Given the description of an element on the screen output the (x, y) to click on. 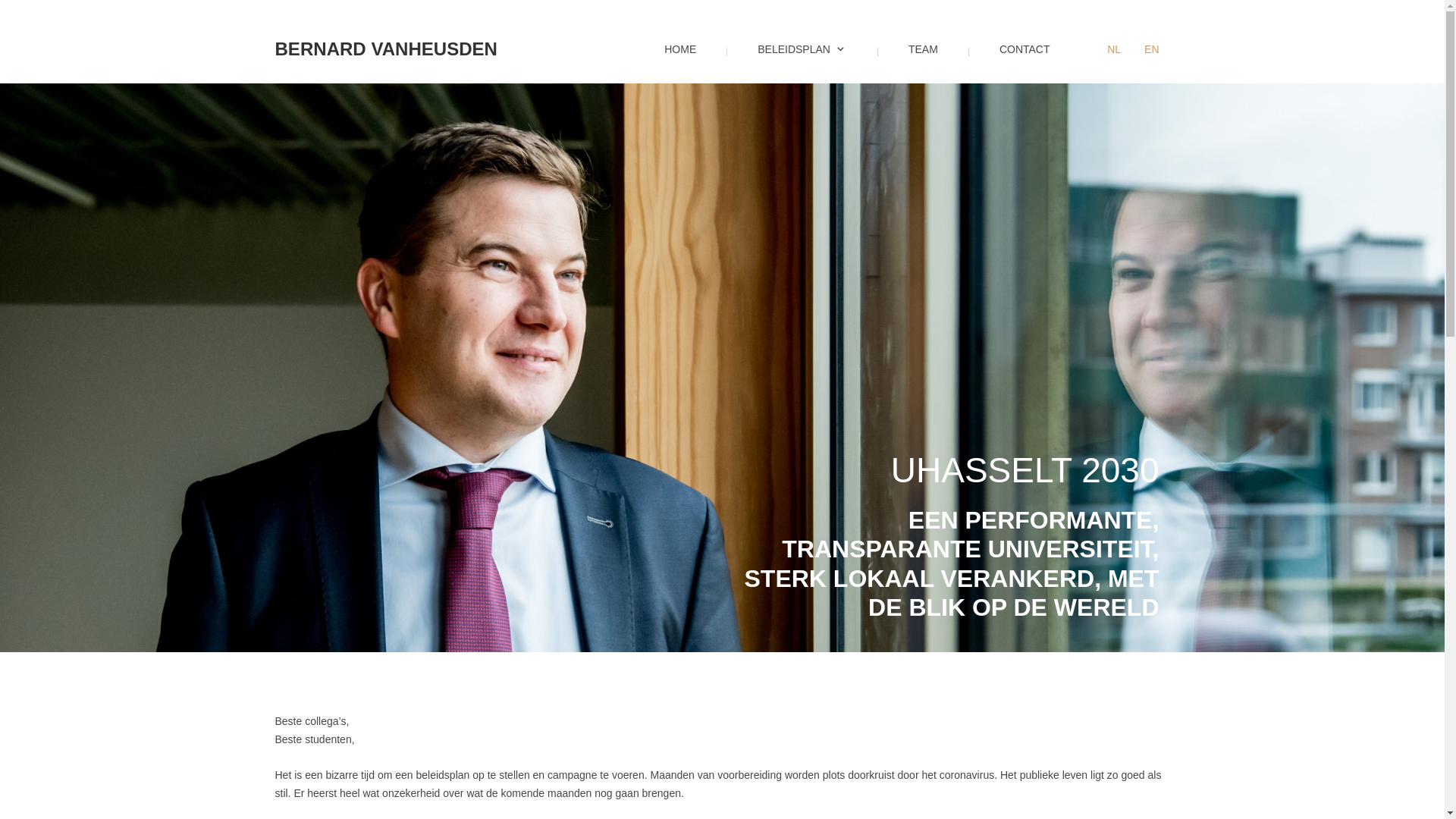
TEAM Element type: text (911, 61)
EN Element type: text (1151, 49)
CONTACT Element type: text (1013, 61)
NL Element type: text (1113, 49)
BELEIDSPLAN Element type: text (790, 61)
HOME Element type: text (668, 61)
